Given the description of an element on the screen output the (x, y) to click on. 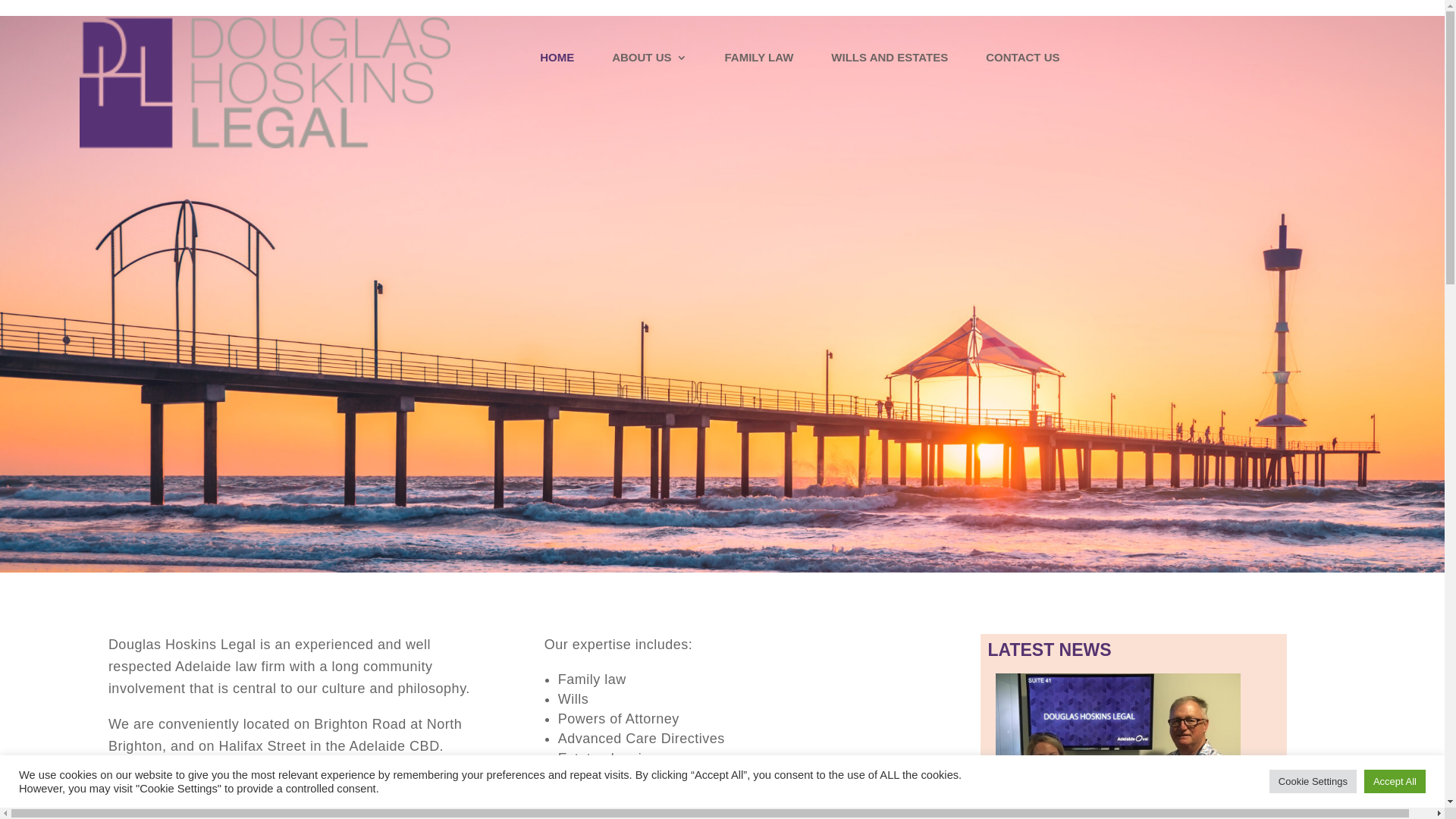
Accept All Element type: text (1394, 781)
FAMILY LAW Element type: text (758, 60)
douglas-hoskins-legal Element type: hover (264, 83)
CONTACT US Element type: text (1022, 60)
Cookie Settings Element type: text (1312, 781)
HOME Element type: text (556, 60)
WILLS AND ESTATES Element type: text (889, 60)
ABOUT US Element type: text (648, 60)
